Given the description of an element on the screen output the (x, y) to click on. 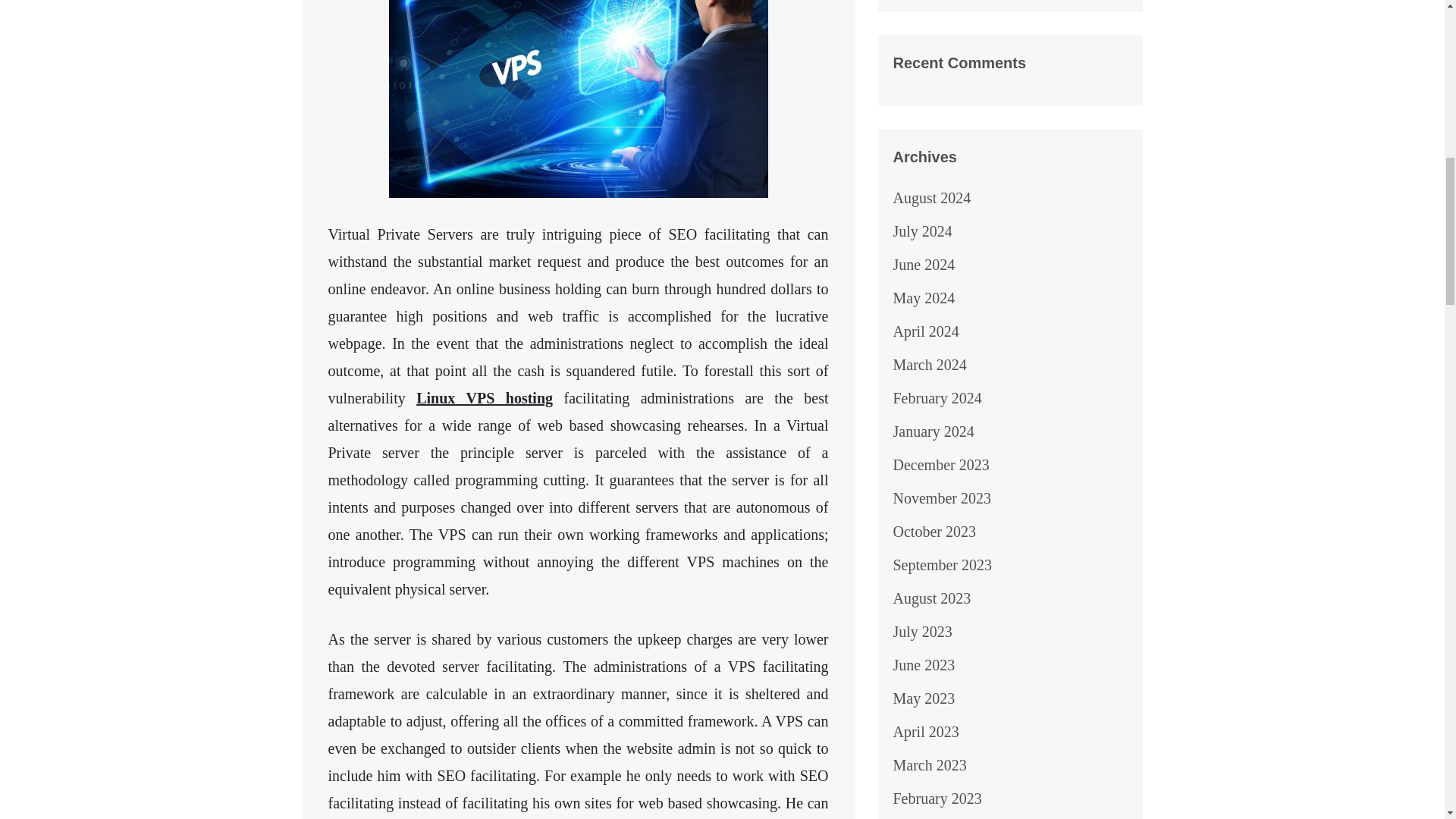
Linux VPS hosting (484, 397)
September 2023 (942, 564)
August 2024 (932, 197)
January 2024 (933, 431)
February 2023 (937, 798)
October 2023 (934, 531)
May 2024 (924, 297)
August 2023 (932, 597)
November 2023 (942, 497)
July 2023 (922, 631)
April 2023 (926, 731)
February 2024 (937, 397)
May 2023 (924, 698)
July 2024 (922, 230)
March 2024 (929, 364)
